Given the description of an element on the screen output the (x, y) to click on. 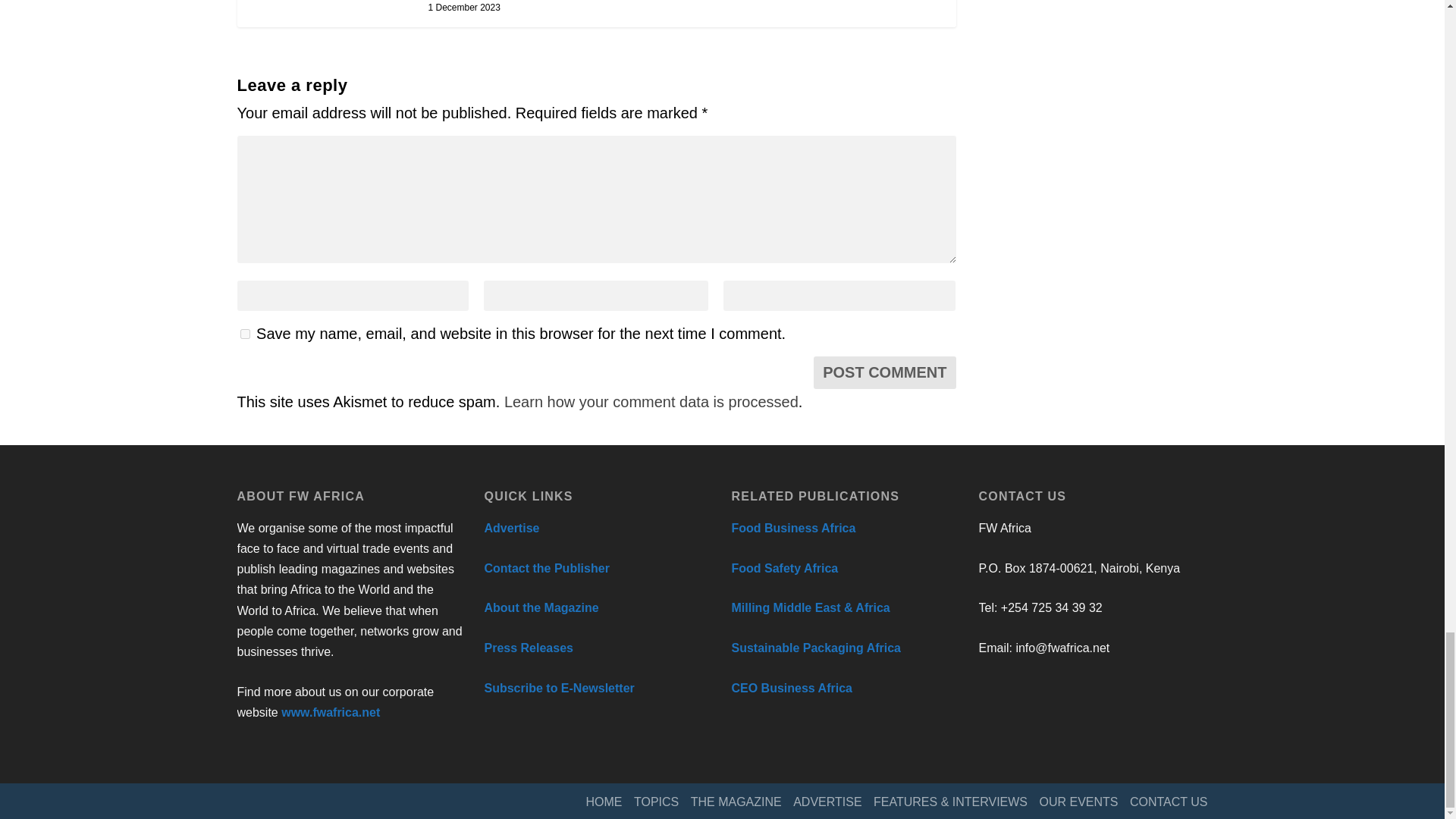
yes (244, 334)
Post Comment (884, 372)
